Given the description of an element on the screen output the (x, y) to click on. 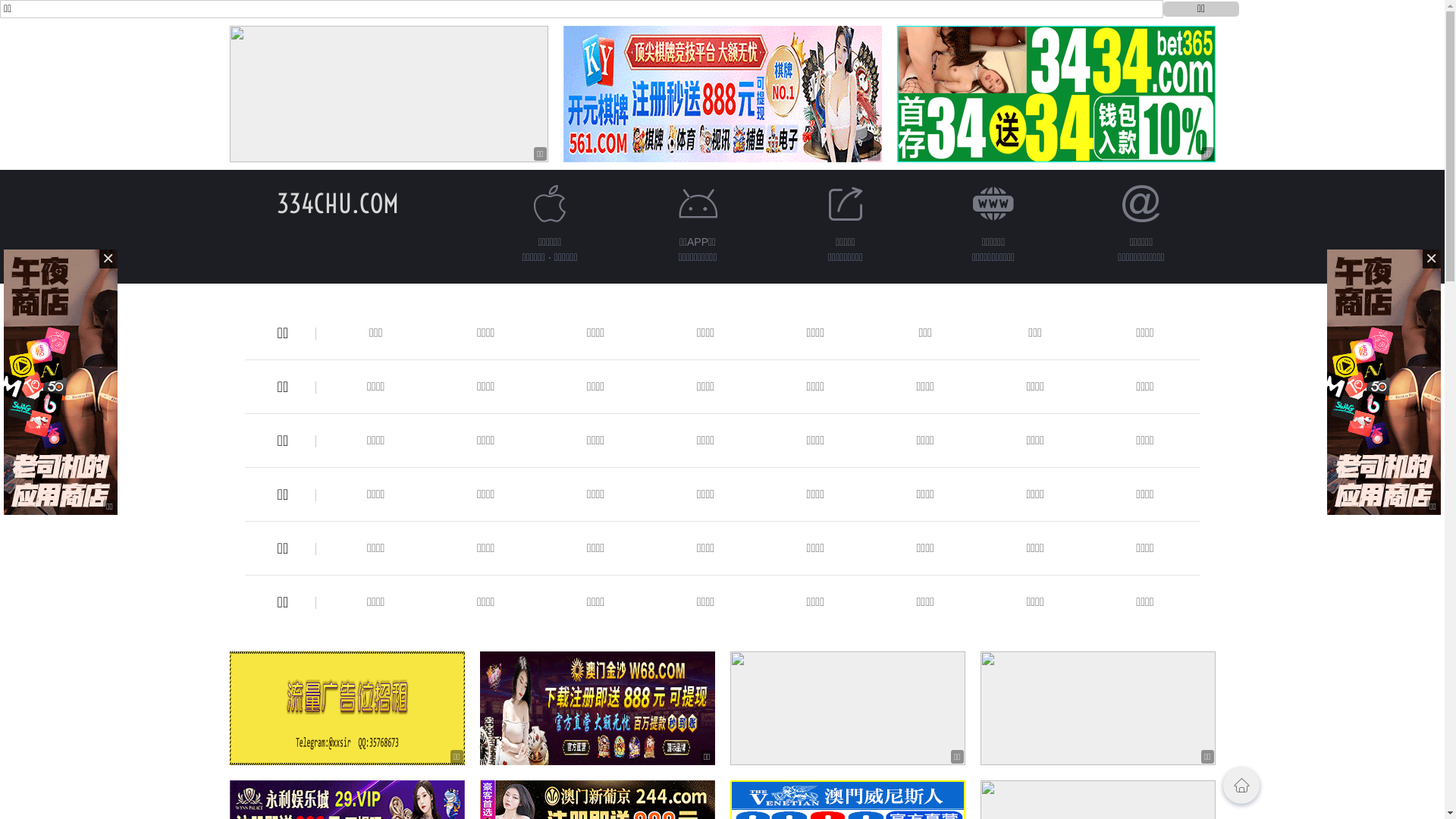
334CHU.COM Element type: text (337, 203)
